Given the description of an element on the screen output the (x, y) to click on. 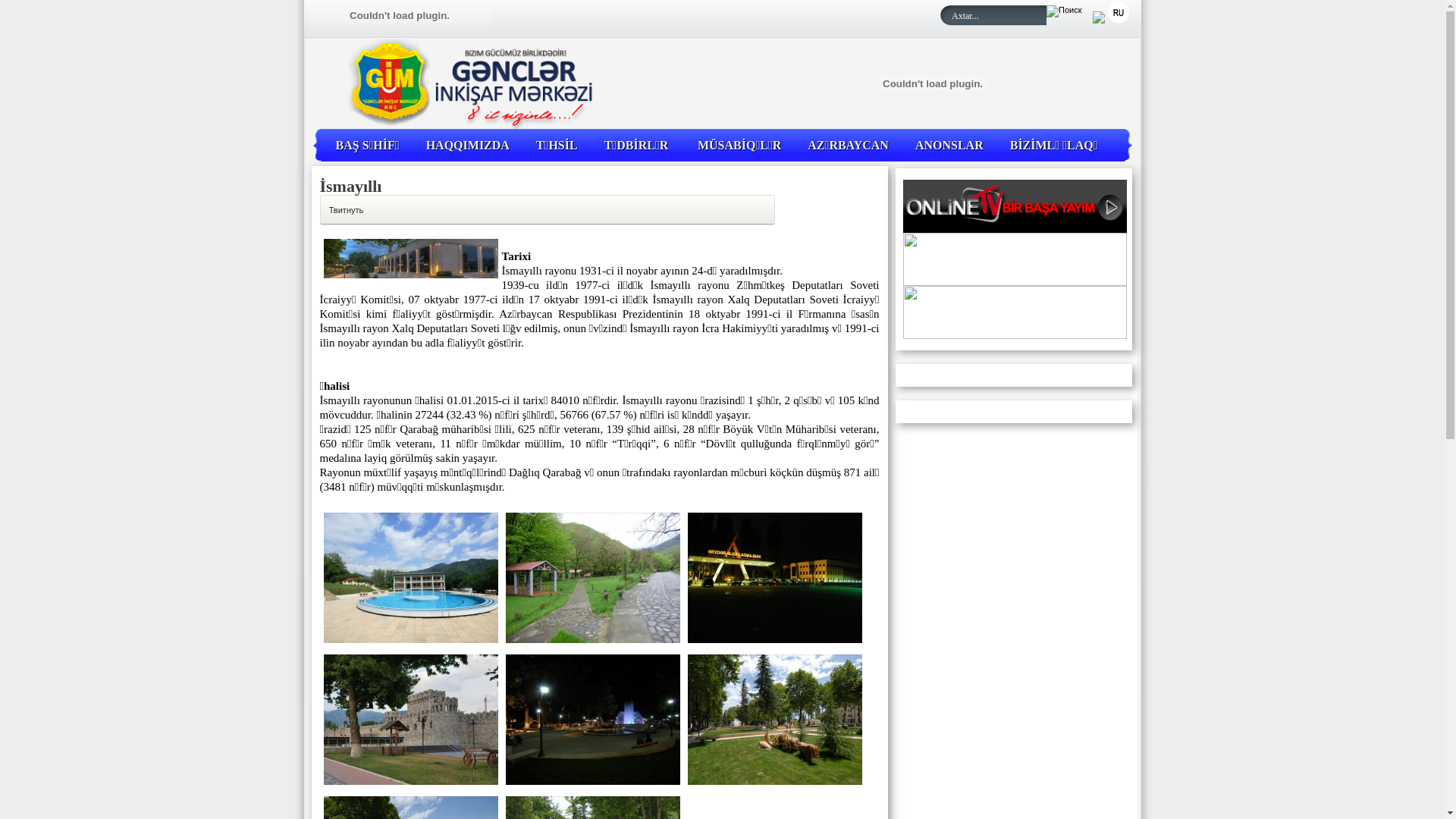
HAQQIMIZDA Element type: text (467, 145)
ANONSLAR Element type: text (949, 145)
